Given the description of an element on the screen output the (x, y) to click on. 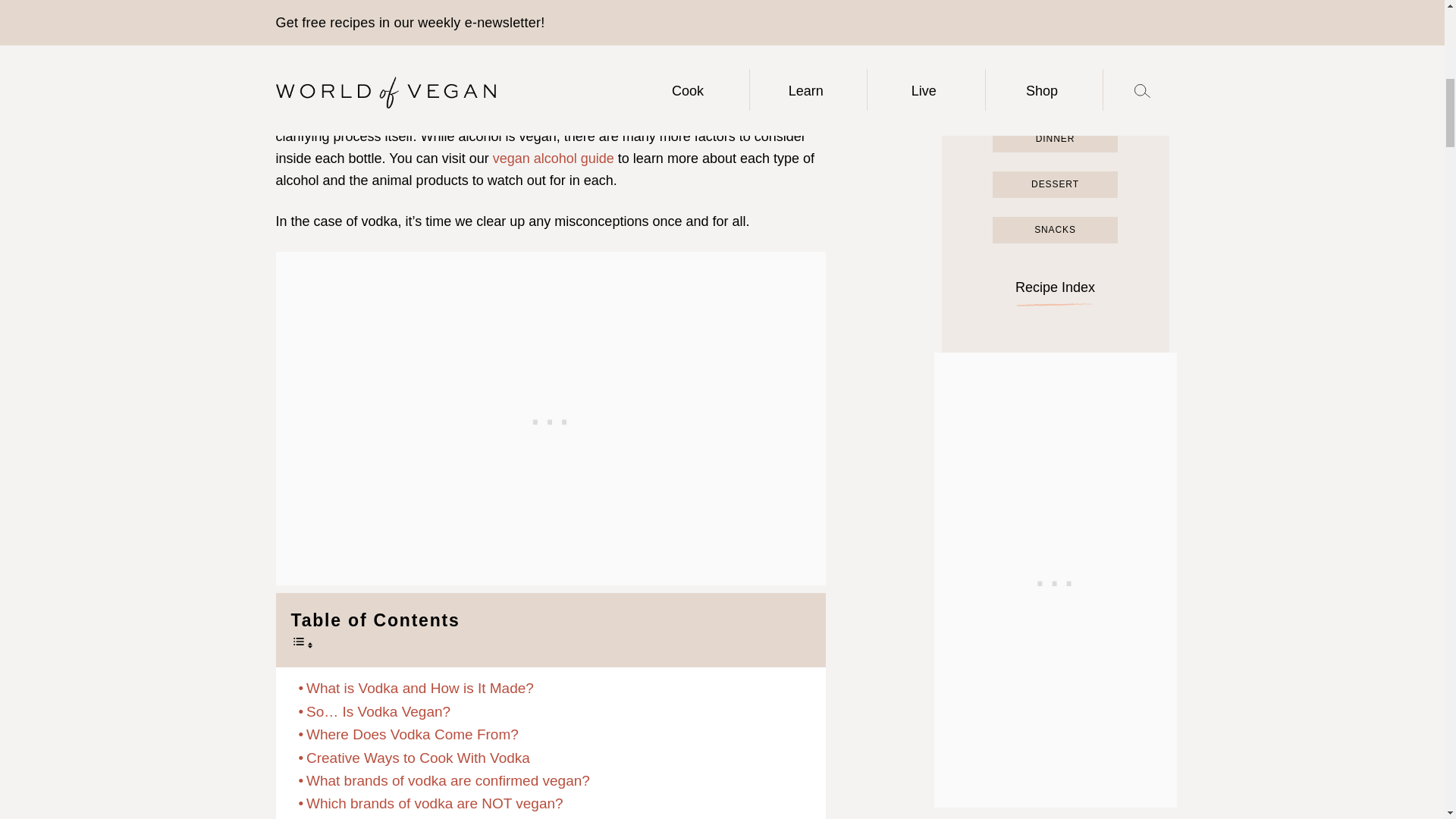
What brands of vodka are confirmed vegan? (443, 780)
What is Vodka and How is It Made? (416, 688)
Creative Ways to Cook With Vodka (413, 757)
Where Does Vodka Come From? (408, 734)
Which brands of vodka are NOT vegan? (430, 803)
Other Vegan Vodka FAQs (384, 817)
